Given the description of an element on the screen output the (x, y) to click on. 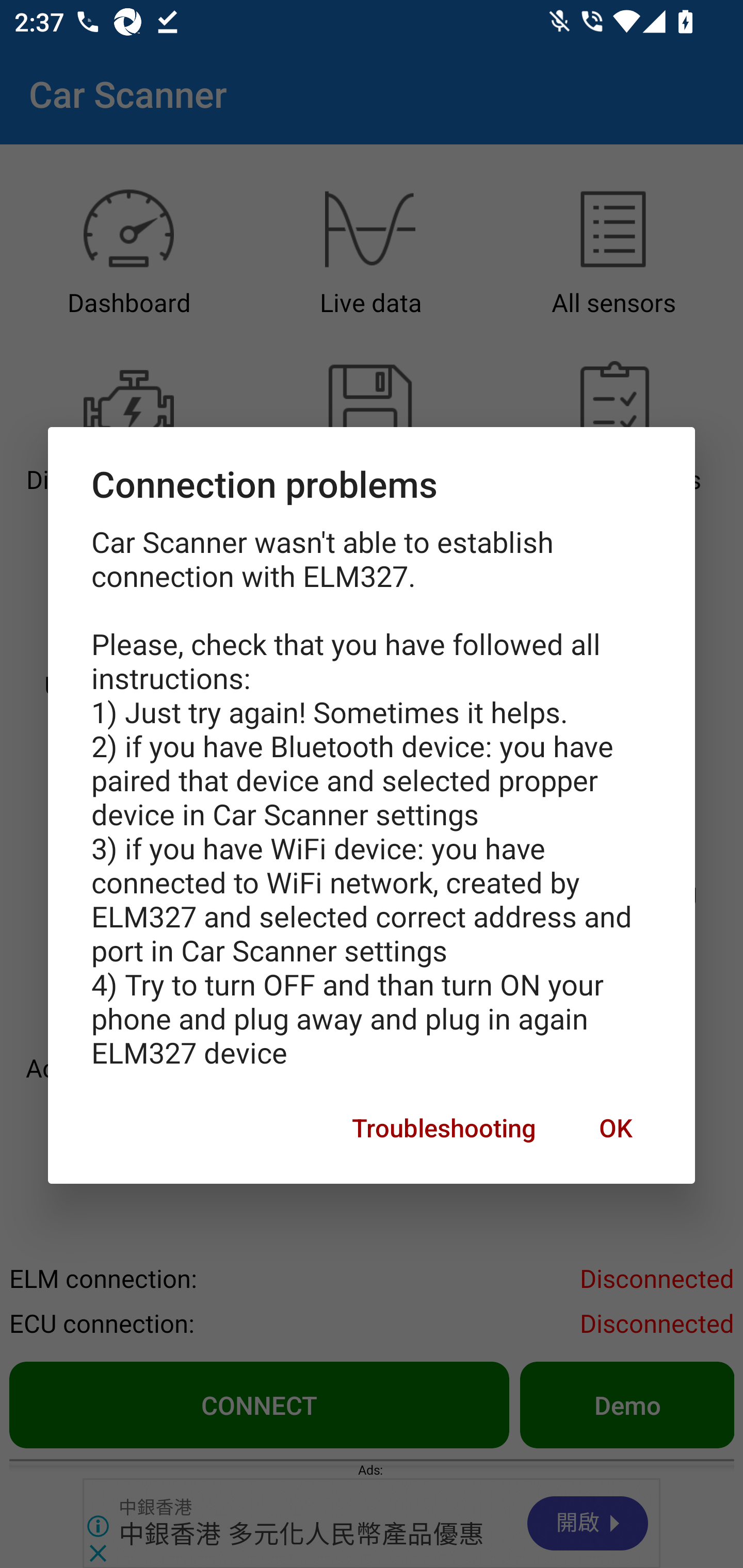
Troubleshooting (443, 1127)
OK (615, 1127)
